Given the description of an element on the screen output the (x, y) to click on. 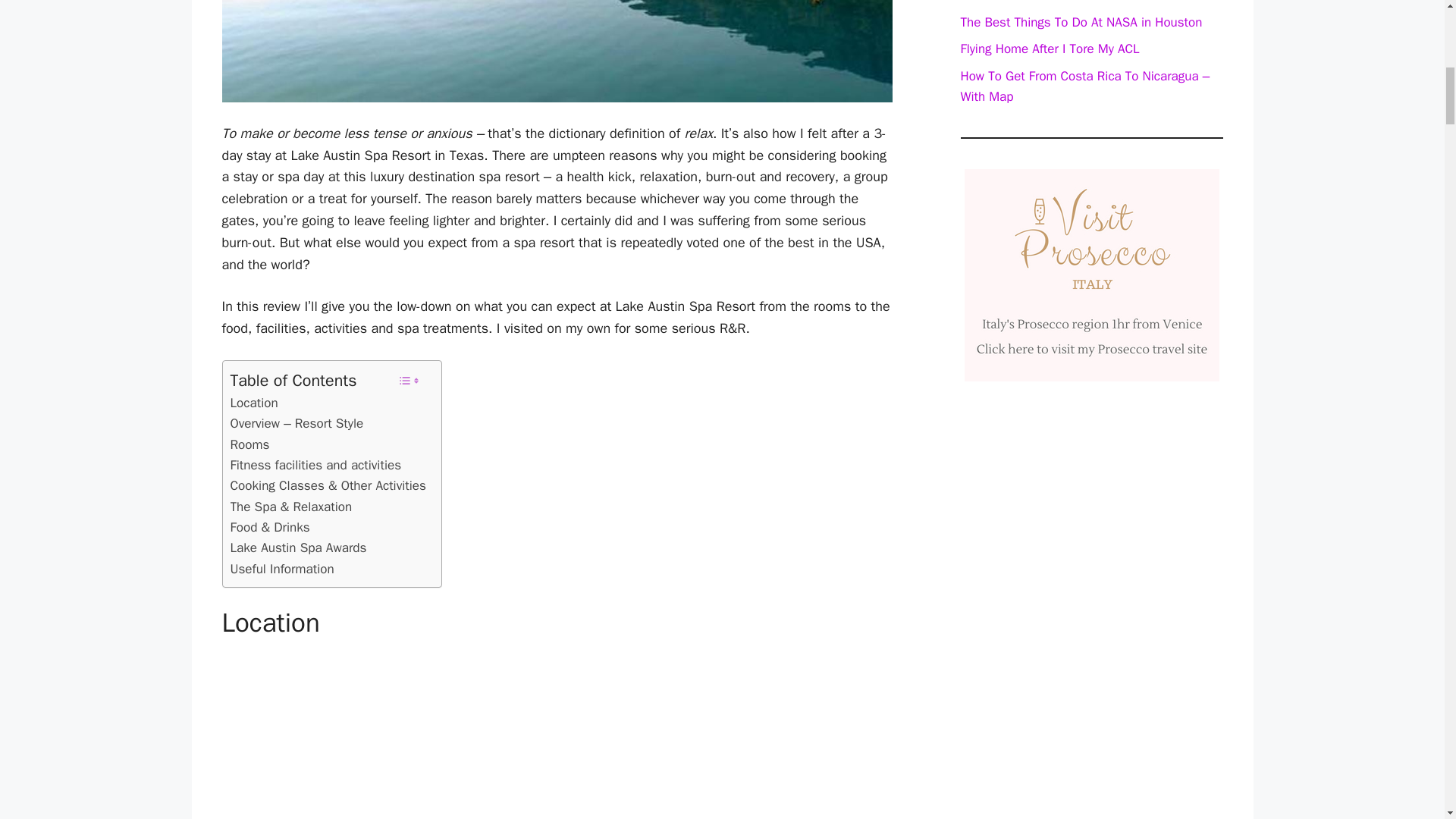
Rooms (249, 444)
Location (254, 403)
Fitness facilities and activities (315, 465)
